Given the description of an element on the screen output the (x, y) to click on. 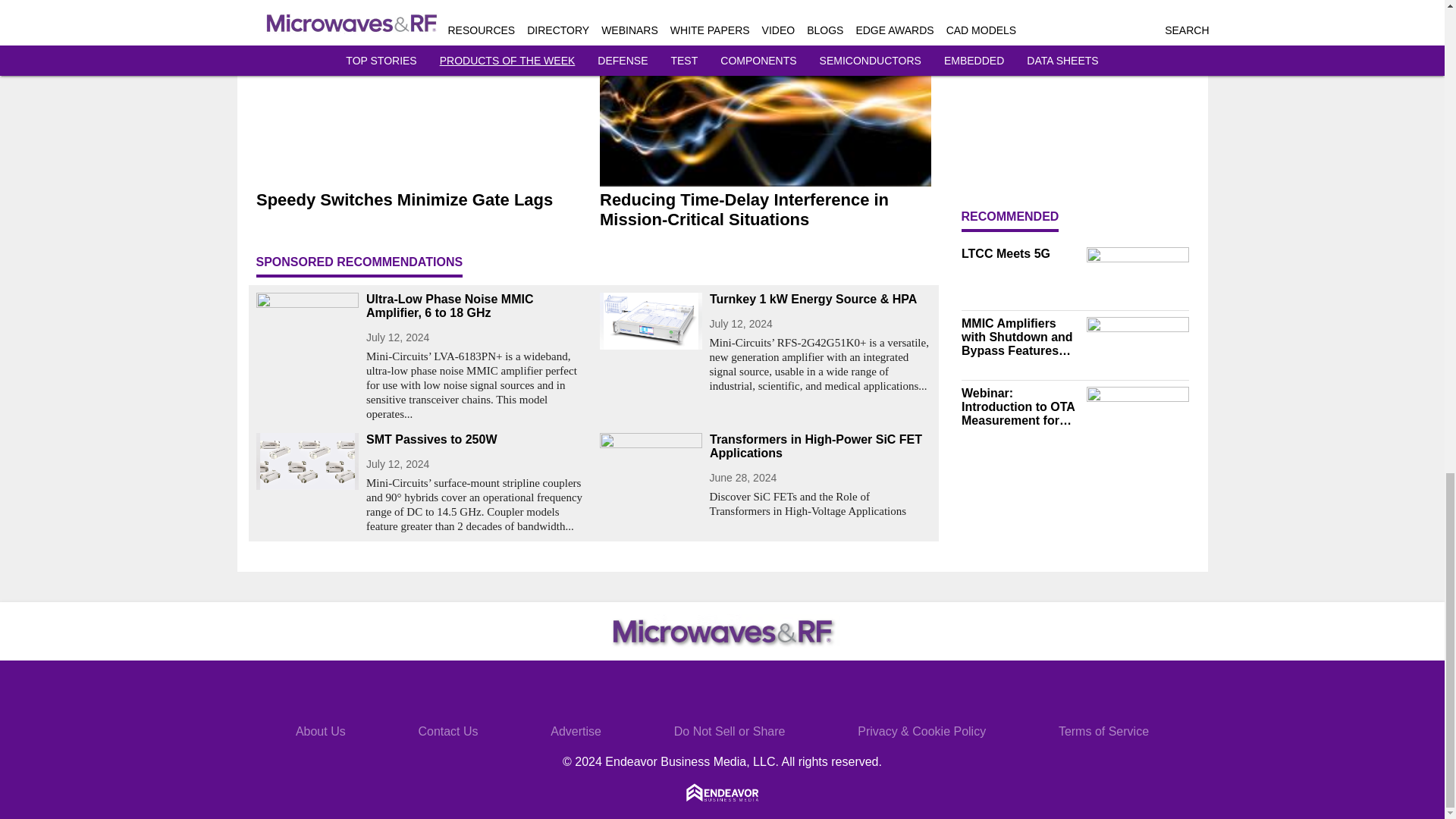
Speedy Switches Minimize Gate Lags (422, 199)
